Given the description of an element on the screen output the (x, y) to click on. 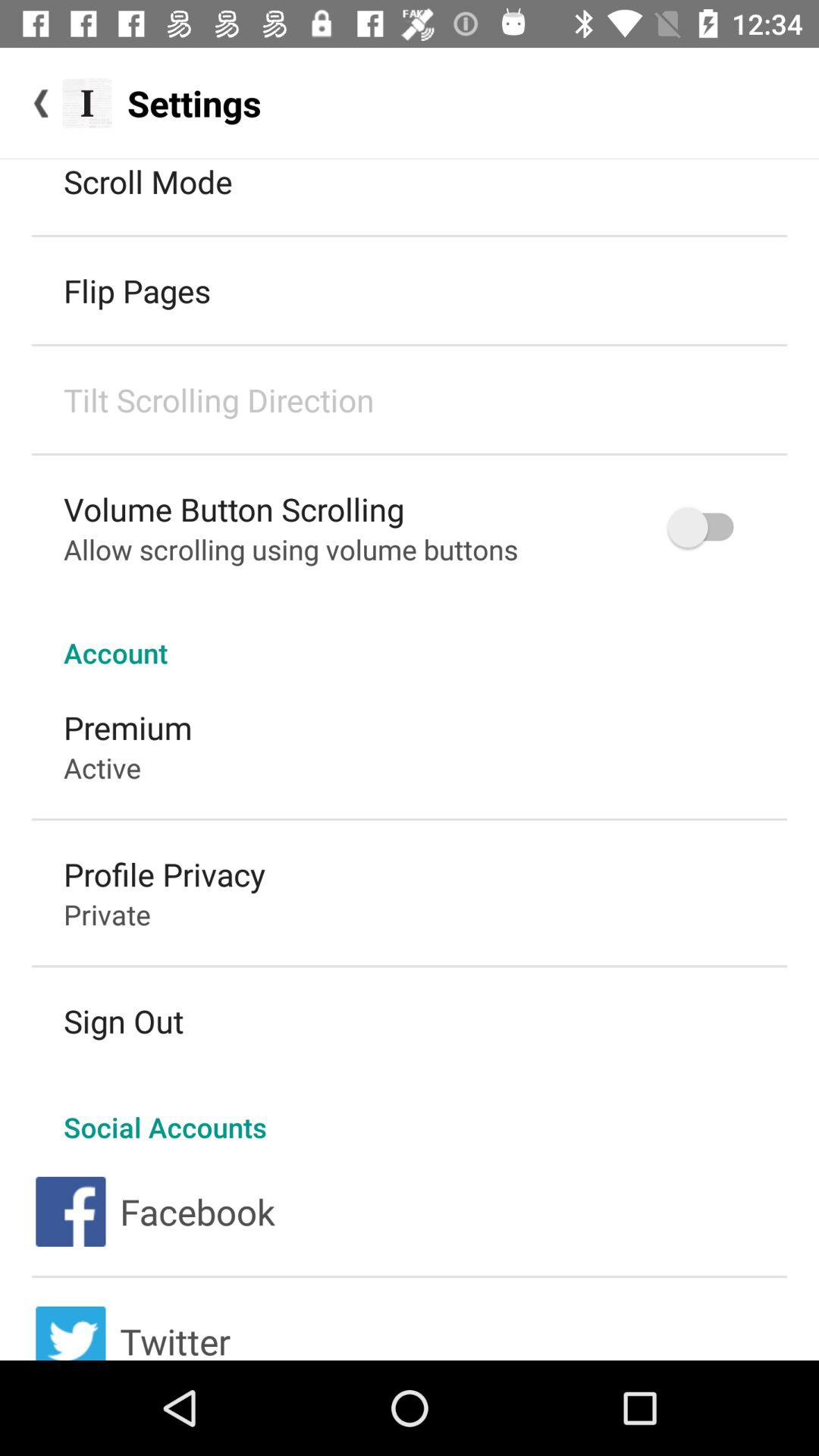
press flip pages (137, 290)
